Given the description of an element on the screen output the (x, y) to click on. 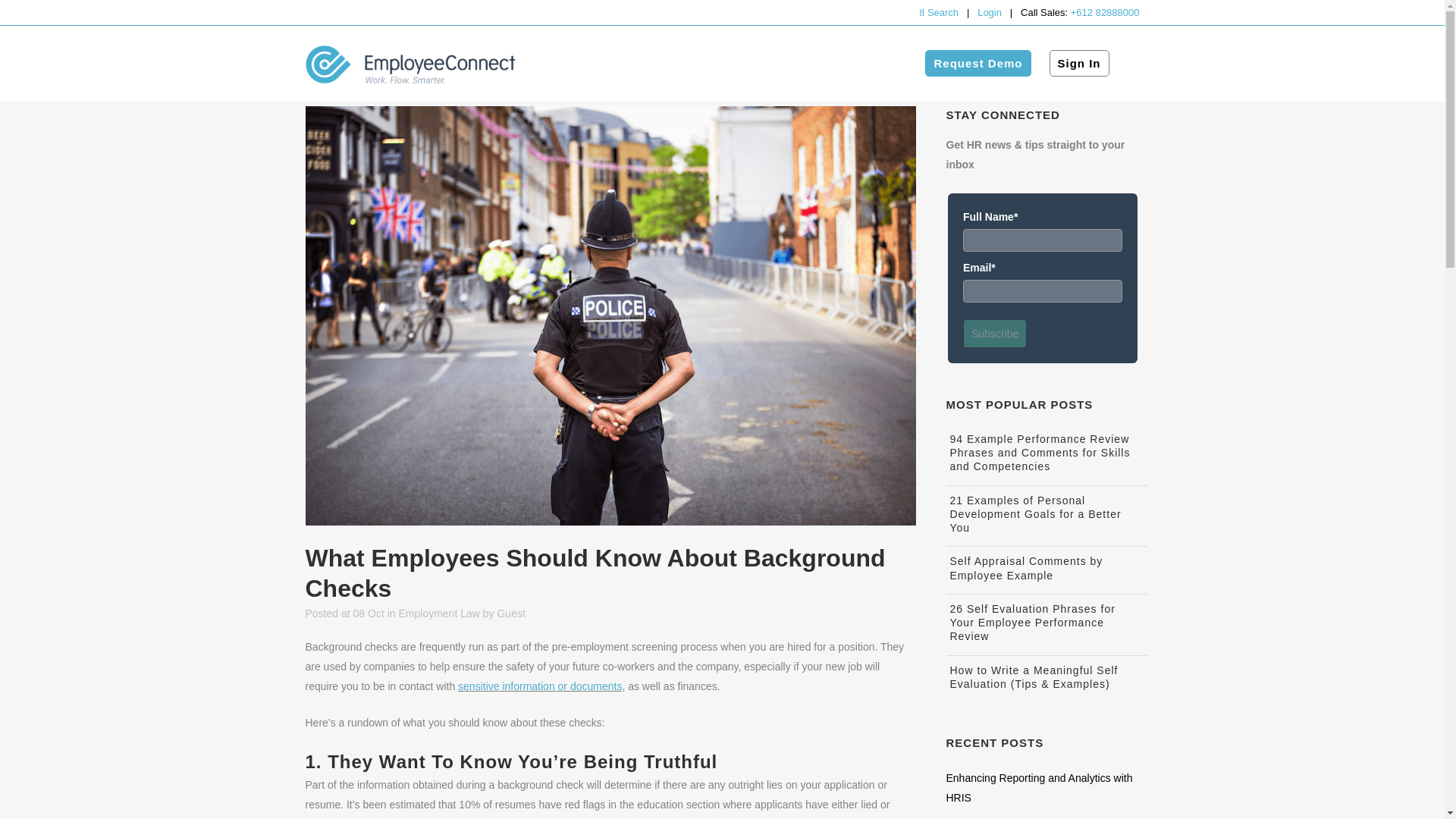
Login (988, 12)
Solutions (672, 63)
Search (939, 12)
21 Examples of Personal Development Goals for a Better You (1035, 514)
Modules (600, 63)
Self Appraisal Comments by Employee Example (1025, 567)
